Given the description of an element on the screen output the (x, y) to click on. 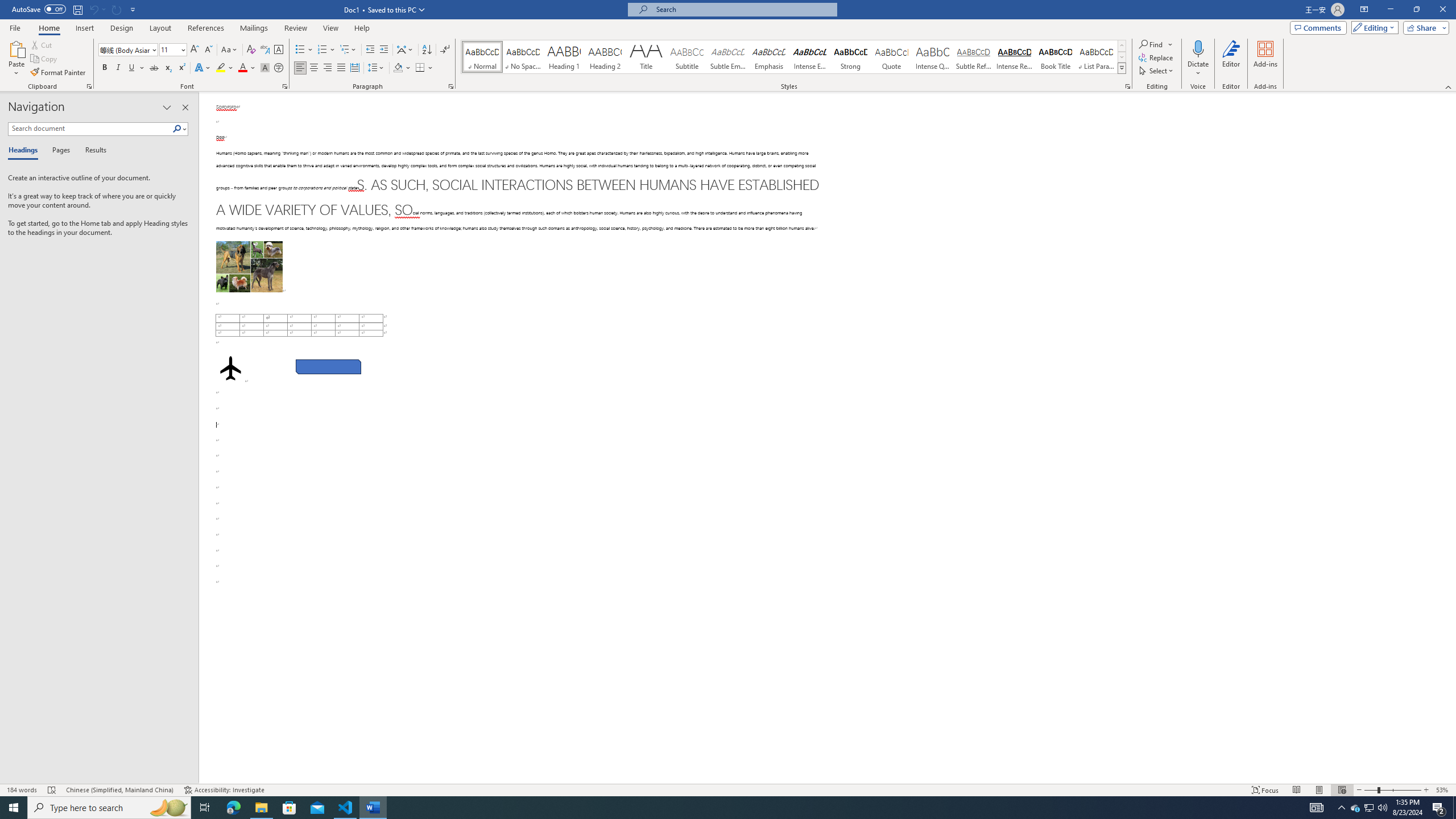
Subtle Emphasis (727, 56)
Intense Reference (1014, 56)
Intense Emphasis (809, 56)
Can't Undo (92, 9)
